Given the description of an element on the screen output the (x, y) to click on. 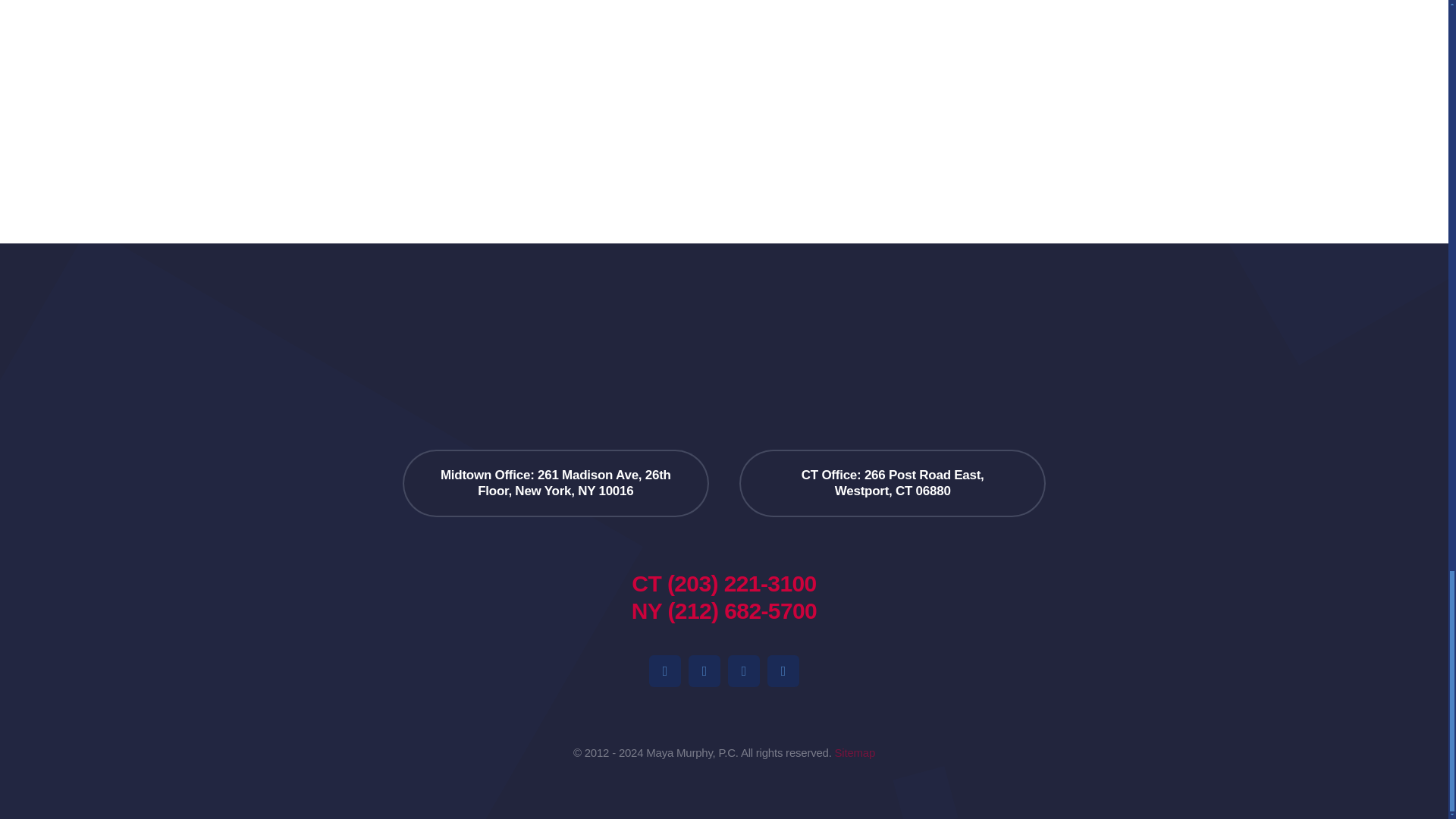
Facebook (665, 671)
YouTube (744, 671)
Twitter (783, 671)
Instagram (704, 671)
